Given the description of an element on the screen output the (x, y) to click on. 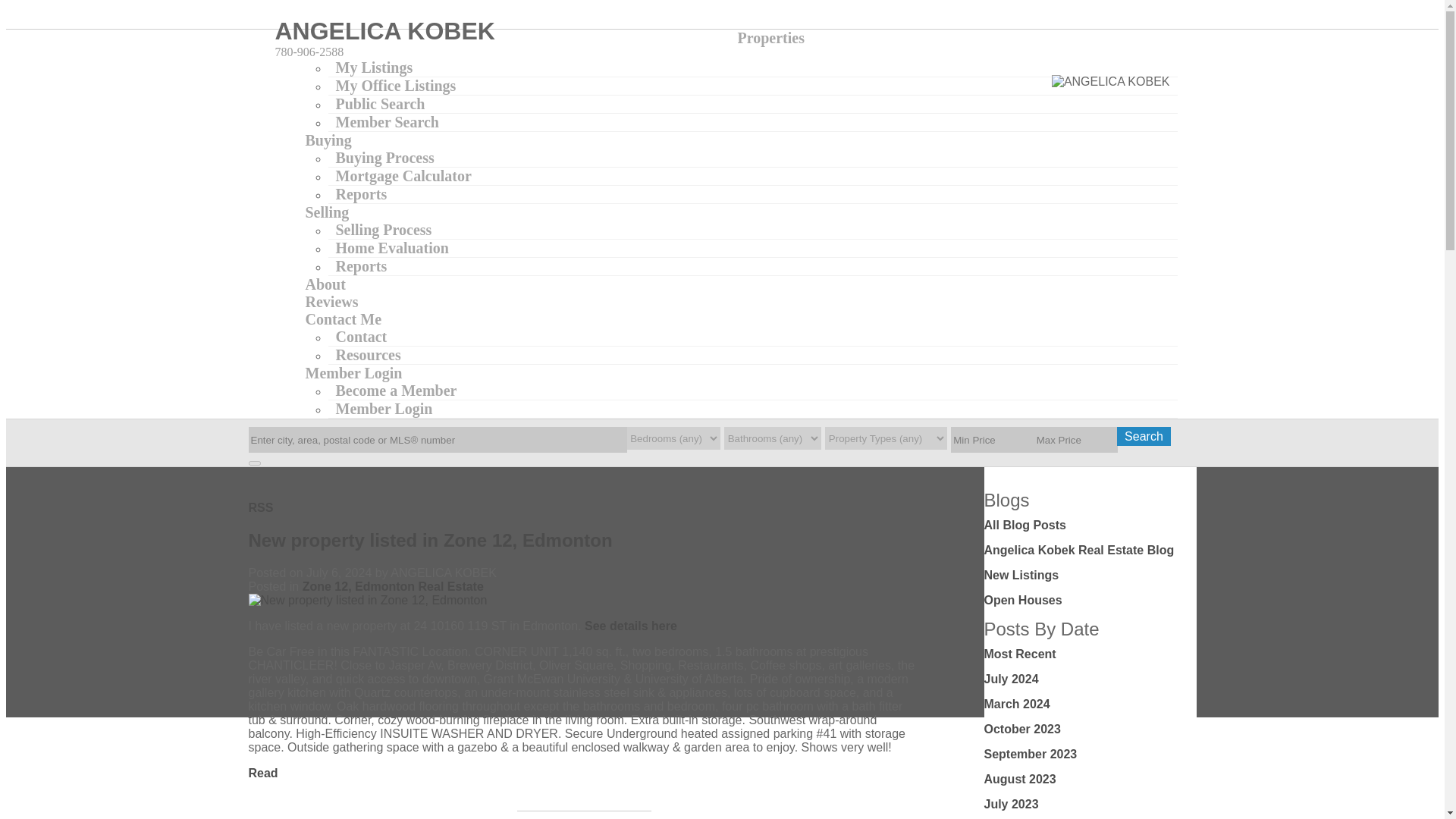
Reports (360, 193)
Search (1143, 435)
My Listings (373, 67)
Zone 12, Edmonton Real Estate (392, 585)
Become a Member (395, 390)
Home Evaluation (391, 247)
See details here (631, 625)
Read full post (584, 600)
Public Search (379, 103)
About (324, 284)
